Given the description of an element on the screen output the (x, y) to click on. 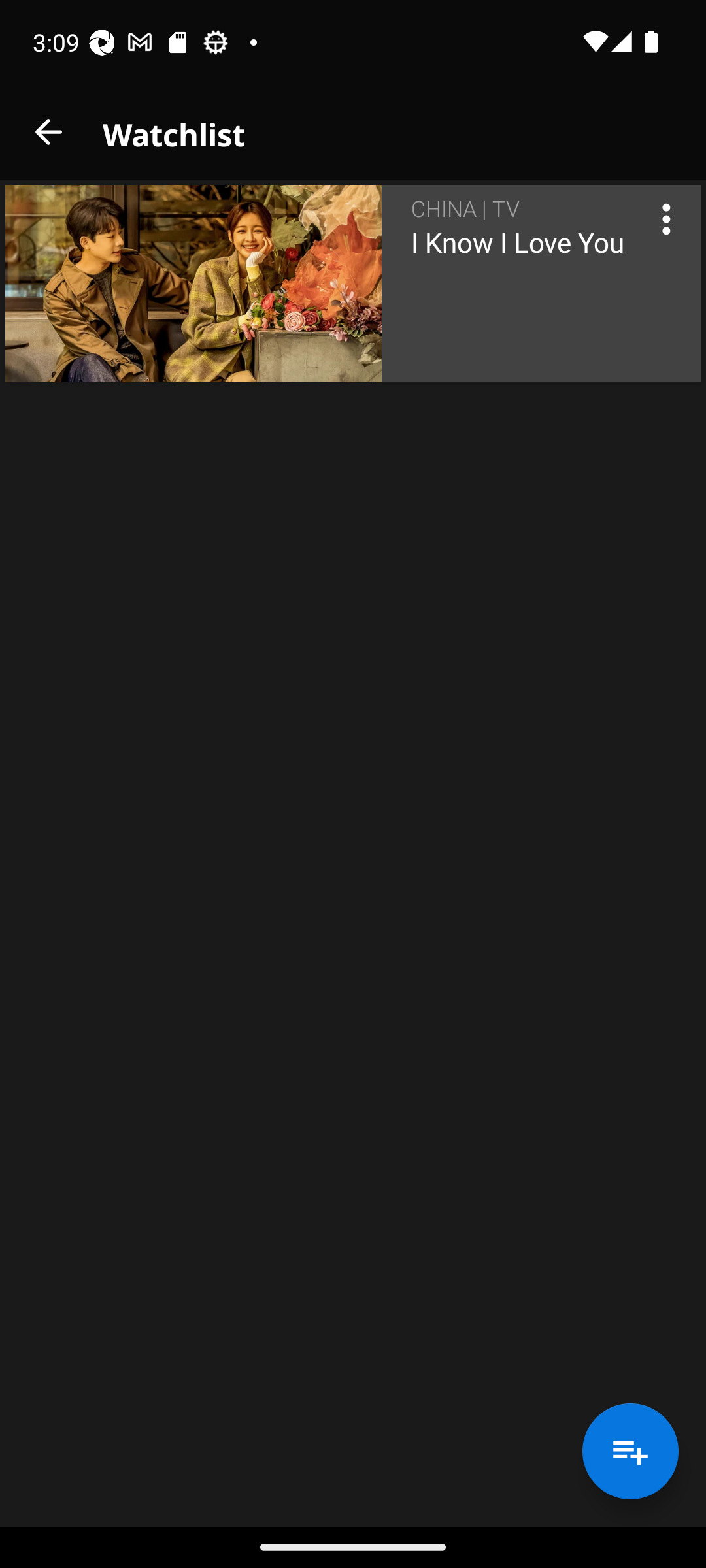
close_button (48, 131)
resource_cell CHINA | TV I Know I Love You (353, 283)
